Given the description of an element on the screen output the (x, y) to click on. 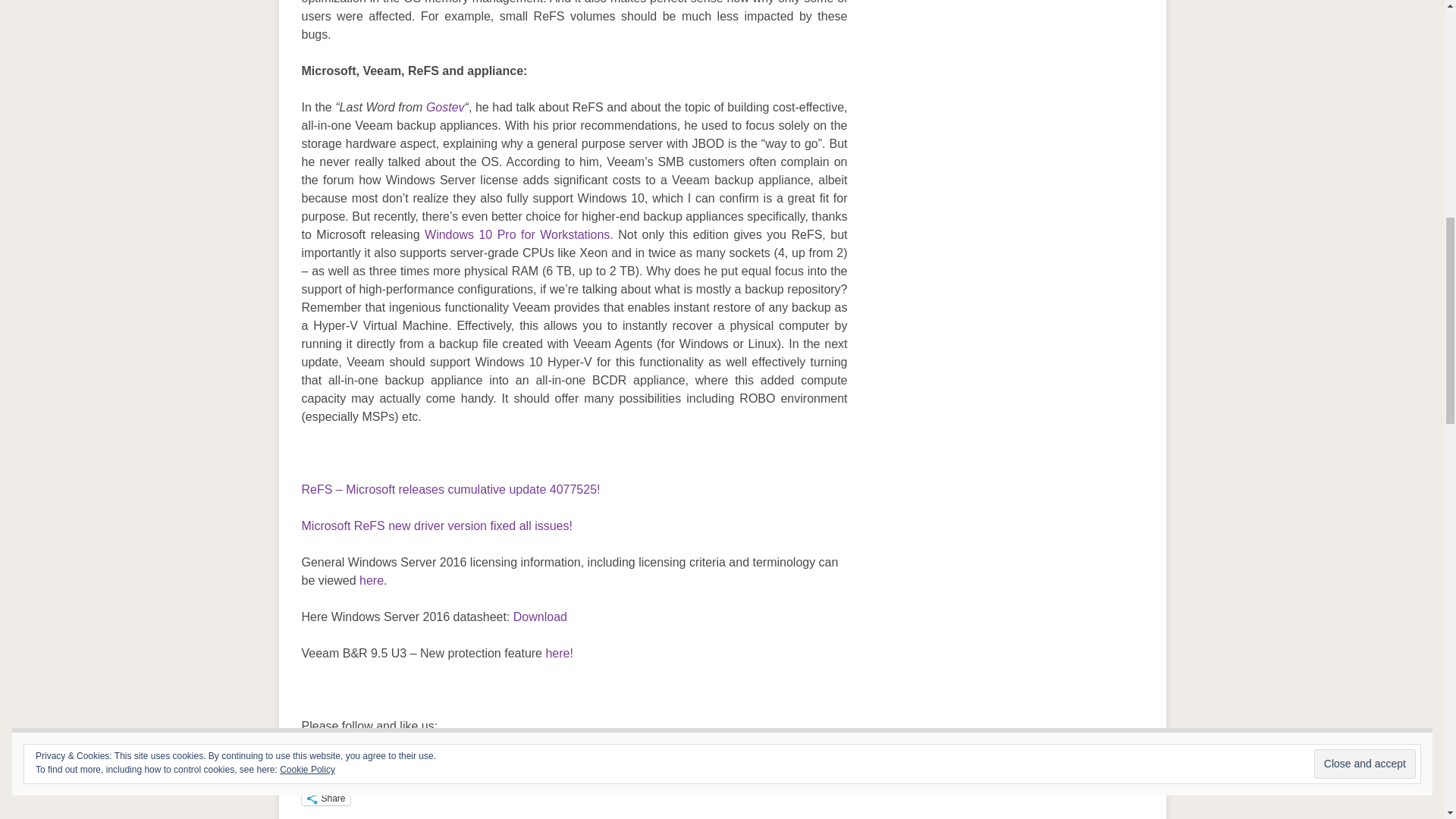
here! (558, 653)
Share (325, 797)
here (371, 580)
Windows 10 Pro for Workstations (517, 234)
Tweet (385, 747)
Facebook Share (333, 748)
Gostev (445, 106)
Download (540, 616)
Microsoft ReFS new driver version fixed all issues! (436, 525)
